Given the description of an element on the screen output the (x, y) to click on. 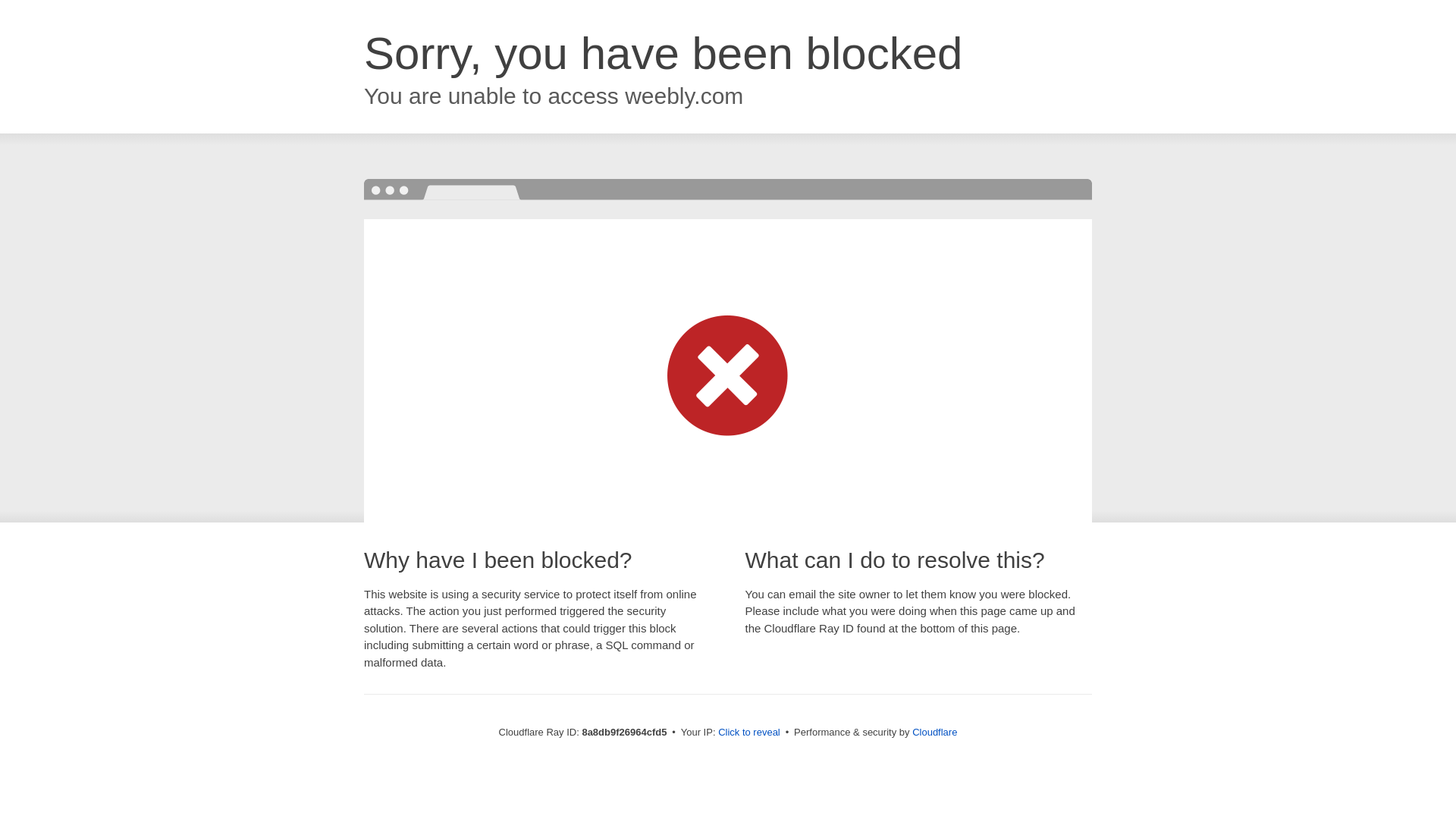
Click to reveal (748, 732)
Cloudflare (934, 731)
